Given the description of an element on the screen output the (x, y) to click on. 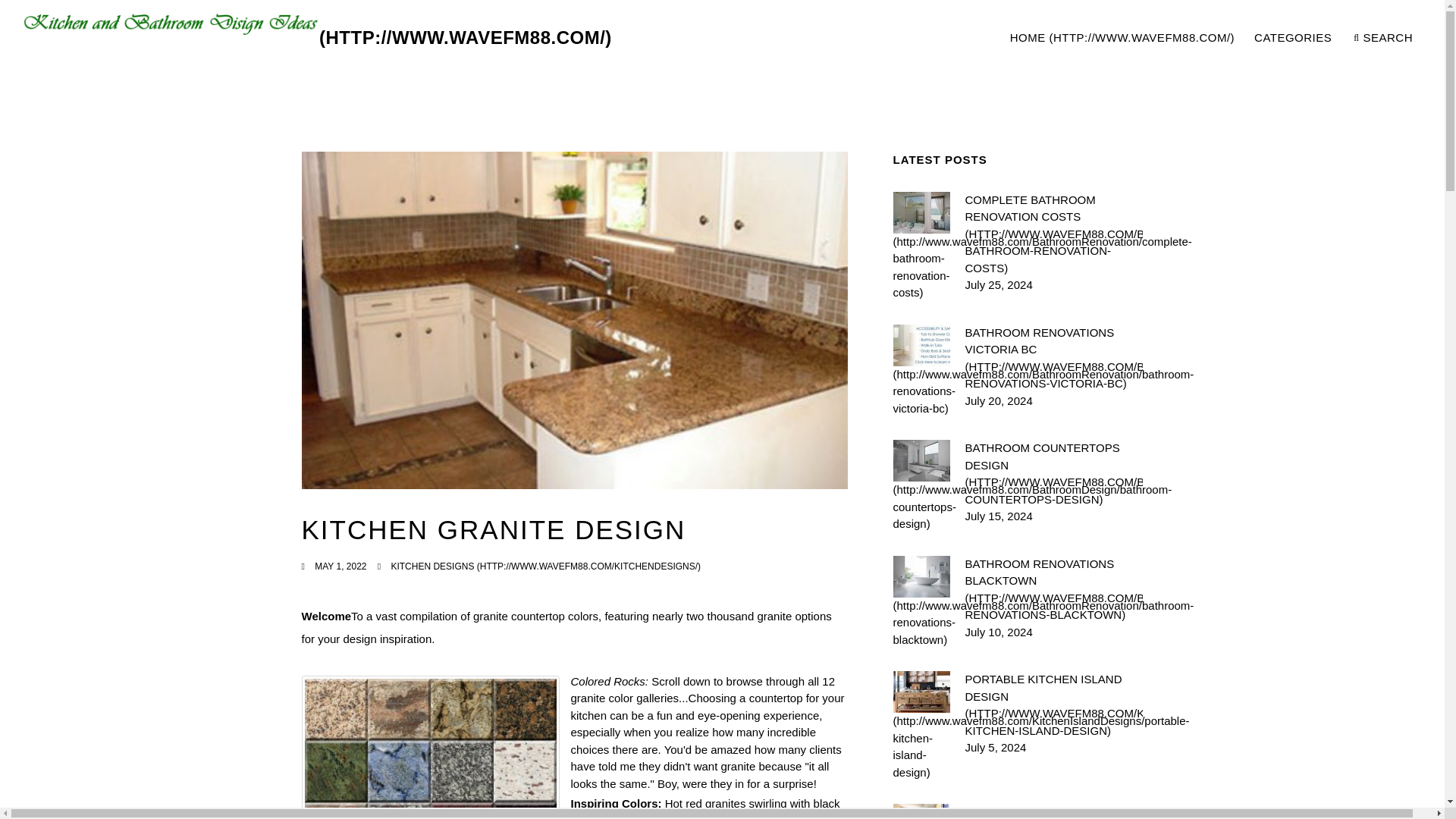
COMPLETE BATHROOM RENOVATION COSTS (1052, 233)
CATEGORIES (1293, 38)
HOME (1122, 38)
KITCHEN DESIGNS (545, 566)
SEARCH (1382, 38)
Kitchen and Bathroom Design Ideas (317, 38)
PORTABLE KITCHEN ISLAND DESIGN (1052, 704)
BATHROOM COUNTERTOPS DESIGN (1052, 473)
BATHROOM RENOVATIONS BLACKTOWN (1052, 589)
BATHROOM RENOVATIONS VICTORIA BC (1210, 38)
